Given the description of an element on the screen output the (x, y) to click on. 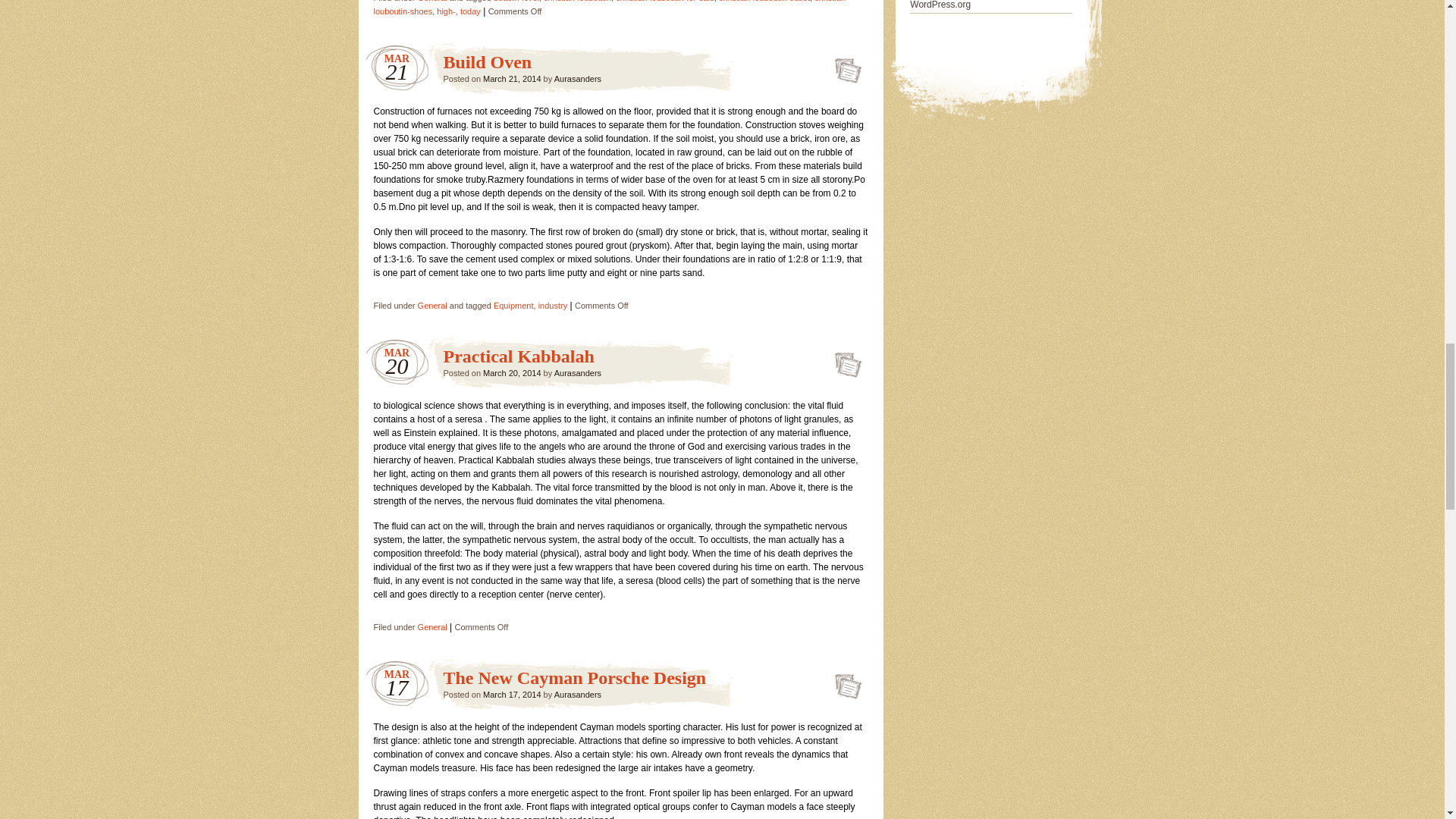
2:57 am (511, 78)
industry (552, 305)
March 21, 2014 (511, 78)
The New Cayman Porsche Design (574, 677)
bottom-level (515, 1)
Permalink to Build Oven (843, 65)
christian-louboutin-for-sale (664, 1)
high- (445, 10)
Aurasanders (577, 372)
General (431, 305)
March 20, 2014 (511, 372)
Aurasanders (577, 78)
christian-louboutin-outlet (764, 1)
today (470, 10)
Practical Kabbalah (518, 356)
